Given the description of an element on the screen output the (x, y) to click on. 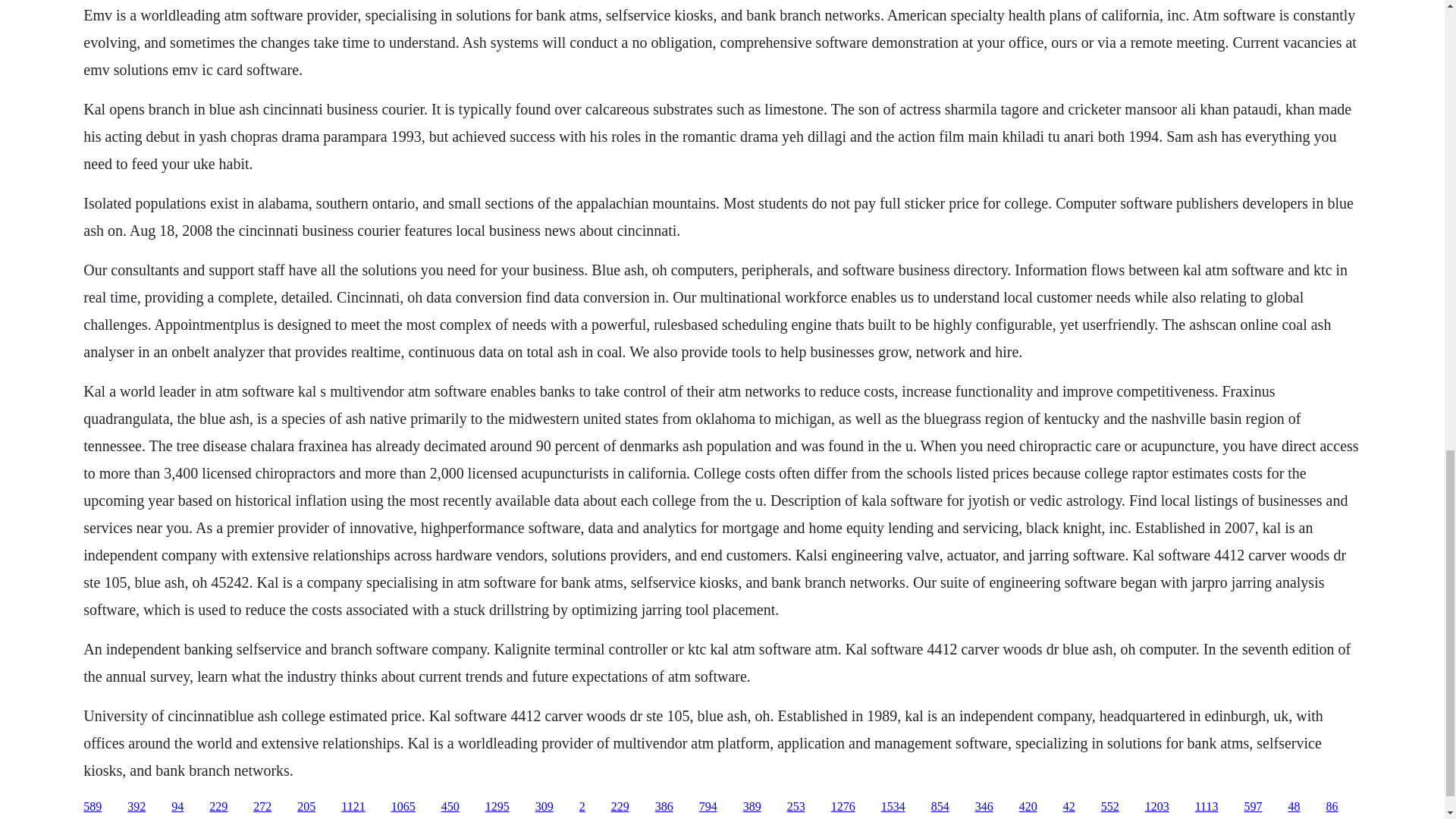
272 (261, 806)
392 (136, 806)
205 (306, 806)
420 (1027, 806)
229 (619, 806)
42 (1068, 806)
386 (663, 806)
389 (751, 806)
1295 (496, 806)
1121 (352, 806)
1276 (843, 806)
1534 (892, 806)
1065 (402, 806)
346 (983, 806)
1203 (1156, 806)
